Given the description of an element on the screen output the (x, y) to click on. 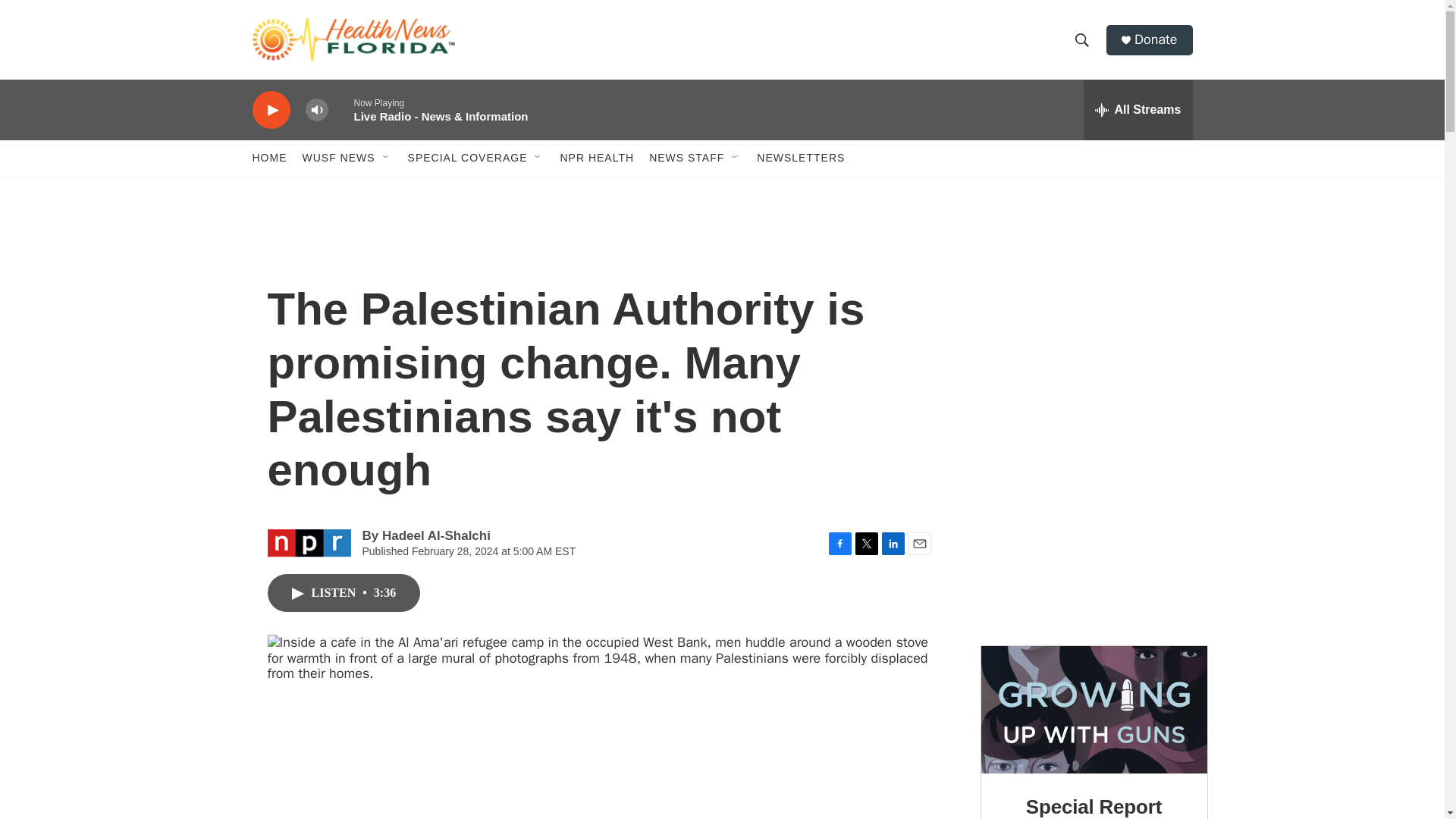
3rd party ad content (1093, 315)
3rd party ad content (1093, 520)
